Given the description of an element on the screen output the (x, y) to click on. 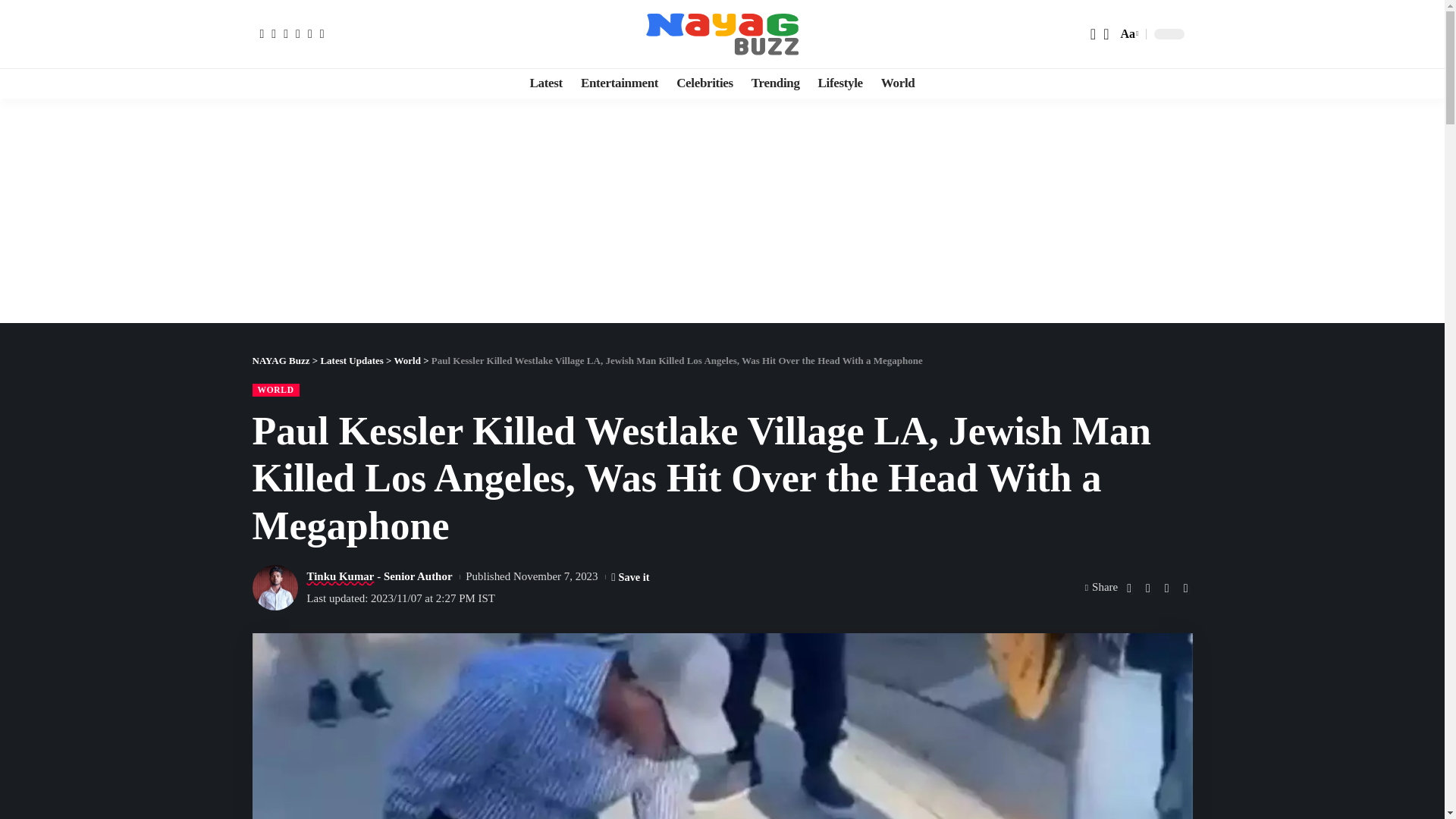
Trending (775, 82)
Go to the World Category archives. (407, 360)
NAYAG Buzz (722, 33)
Latest (546, 82)
World (898, 82)
Entertainment (619, 82)
Aa (1127, 33)
Go to NAYAG Buzz. (279, 360)
Celebrities (704, 82)
Go to Latest Updates. (351, 360)
Lifestyle (840, 82)
